Given the description of an element on the screen output the (x, y) to click on. 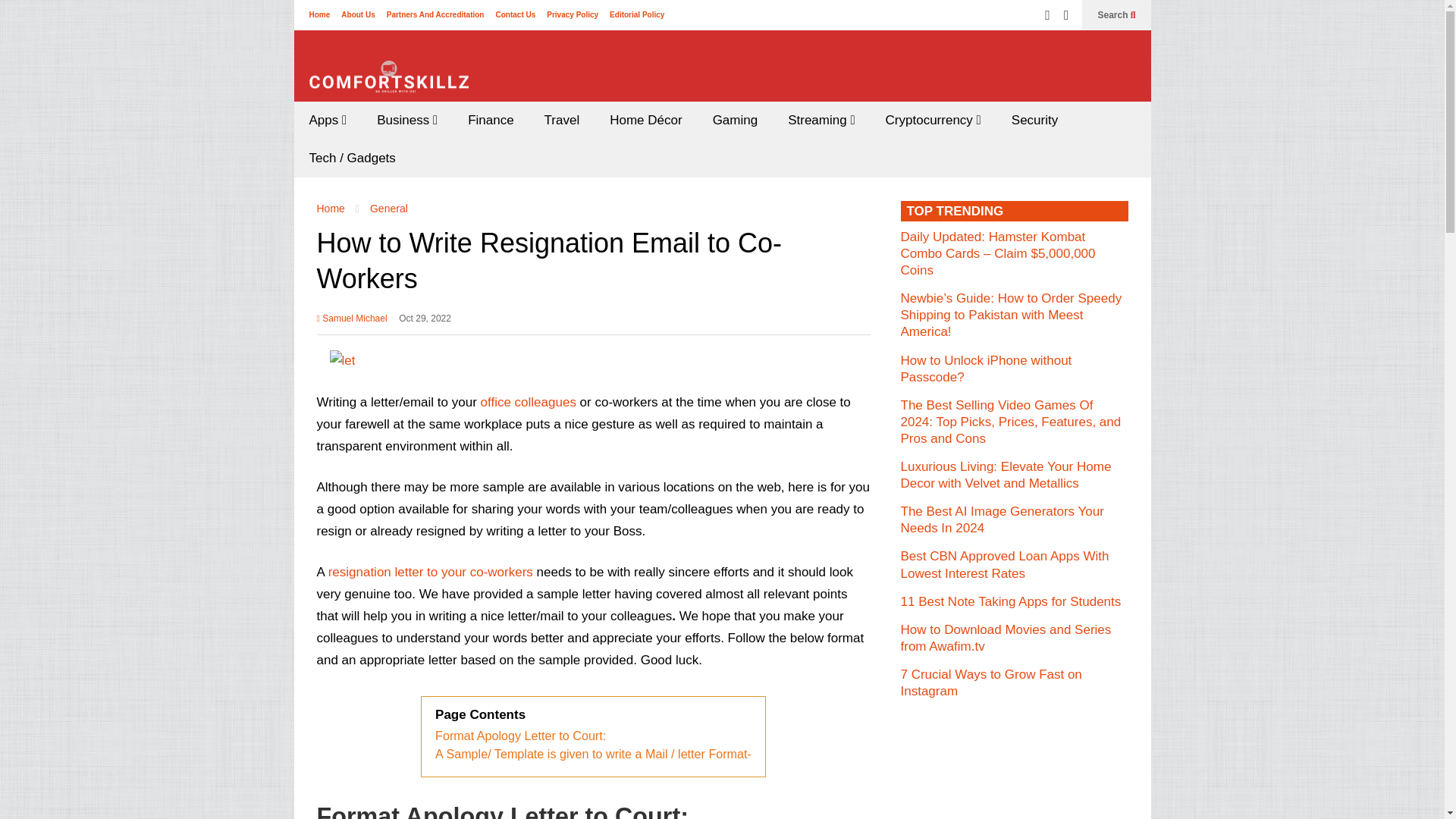
Home (319, 14)
About Us (357, 14)
Search (1116, 15)
Security (1034, 120)
Finance (490, 120)
Gaming (735, 120)
Streaming (821, 120)
Contact Us (515, 14)
Travel (562, 120)
Apps (328, 120)
Partners And Accreditation (435, 14)
Privacy Policy (572, 14)
How to Write Resignation Email to Co-Workers 1 (342, 361)
Editorial Policy (636, 14)
Business (406, 120)
